Given the description of an element on the screen output the (x, y) to click on. 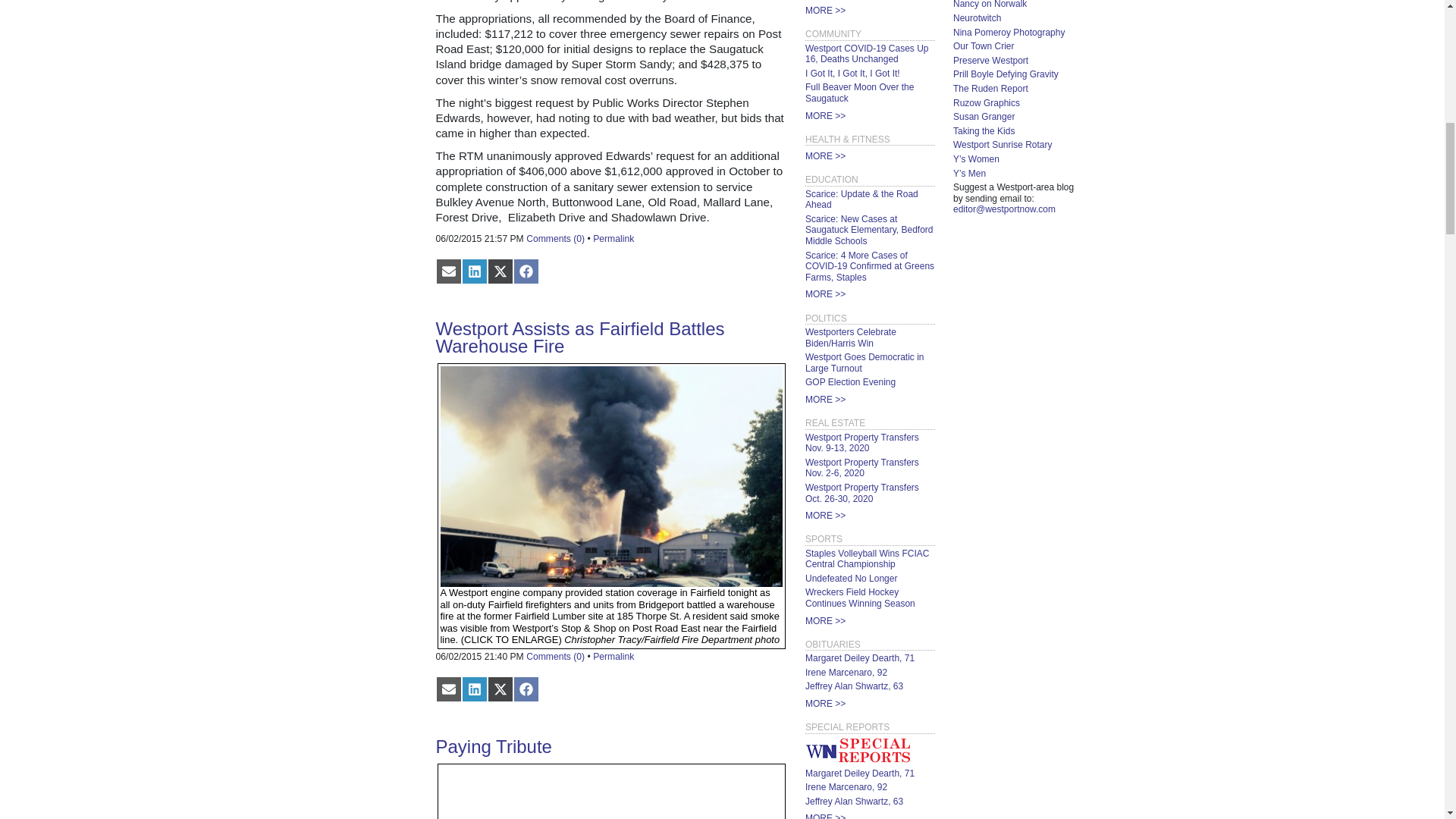
Share on Facebook (525, 271)
Paying Tribute (493, 746)
Share on Email (448, 688)
Share on LinkedIn (473, 688)
Westport Assists as Fairfield Battles Warehouse Fire (579, 337)
Permalink (612, 656)
Permalink (612, 238)
Share on Facebook (525, 688)
Share on Email (448, 271)
Share on LinkedIn (473, 271)
